Given the description of an element on the screen output the (x, y) to click on. 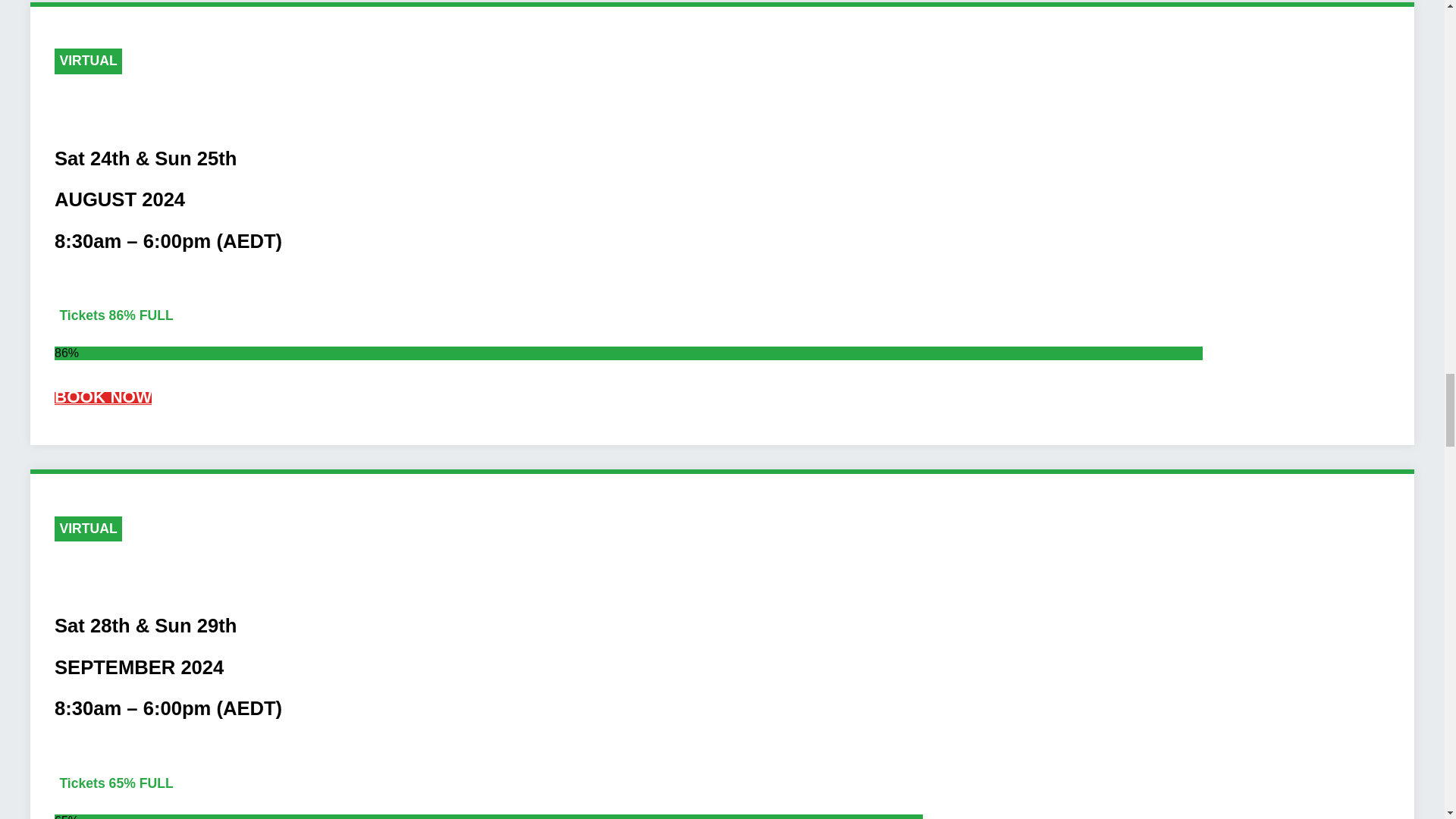
BOOK NOW (103, 398)
